Given the description of an element on the screen output the (x, y) to click on. 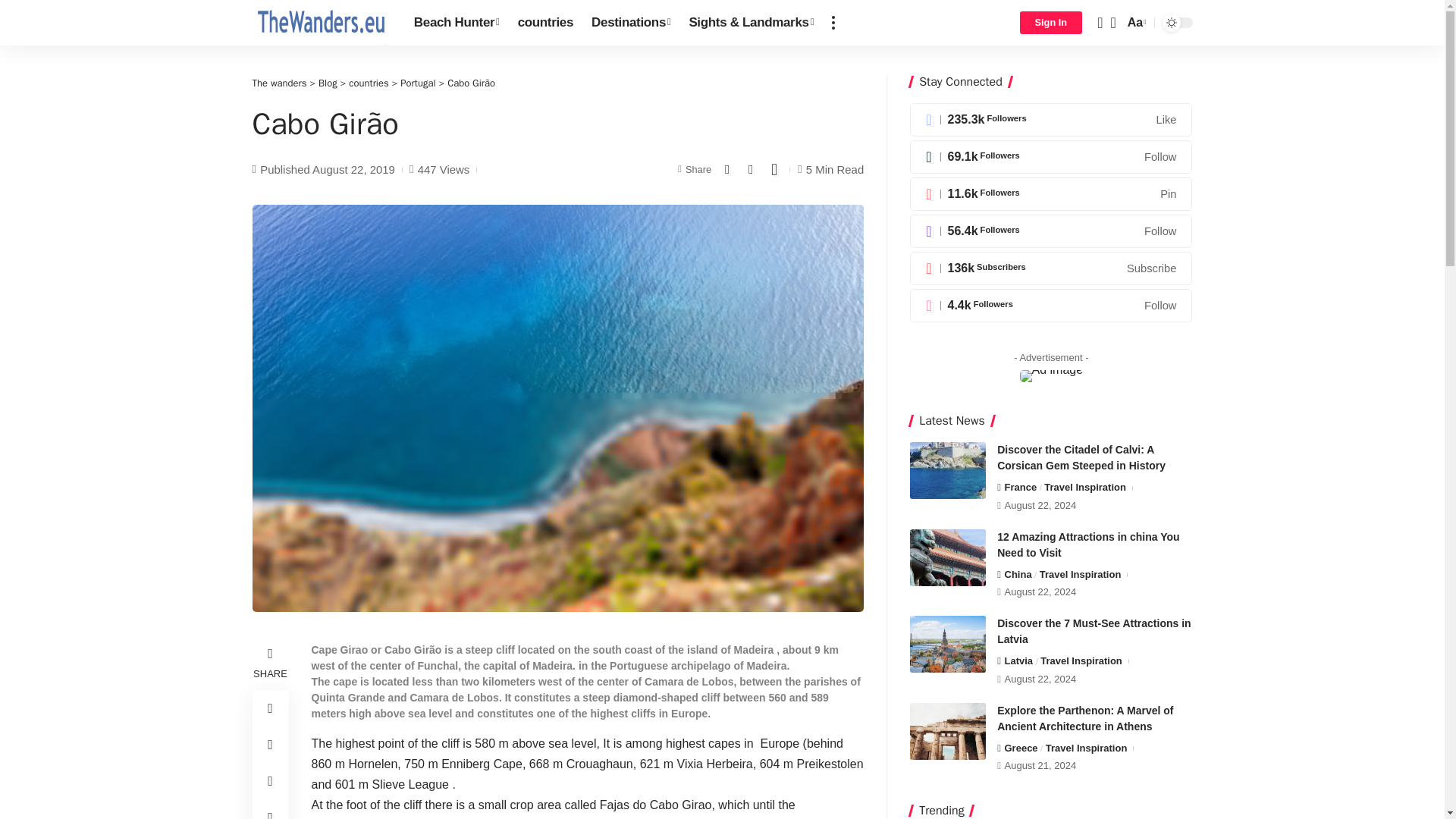
Beach Hunter (456, 22)
Go to the countries Category archives. (368, 82)
Discover the 7 Must-See Attractions in Latvia (947, 643)
Go to Blog. (327, 82)
Go to The wanders. (278, 82)
countries (545, 22)
The wanders (319, 22)
Destinations (630, 22)
12 Amazing Attractions in china You Need to Visit (947, 557)
